Given the description of an element on the screen output the (x, y) to click on. 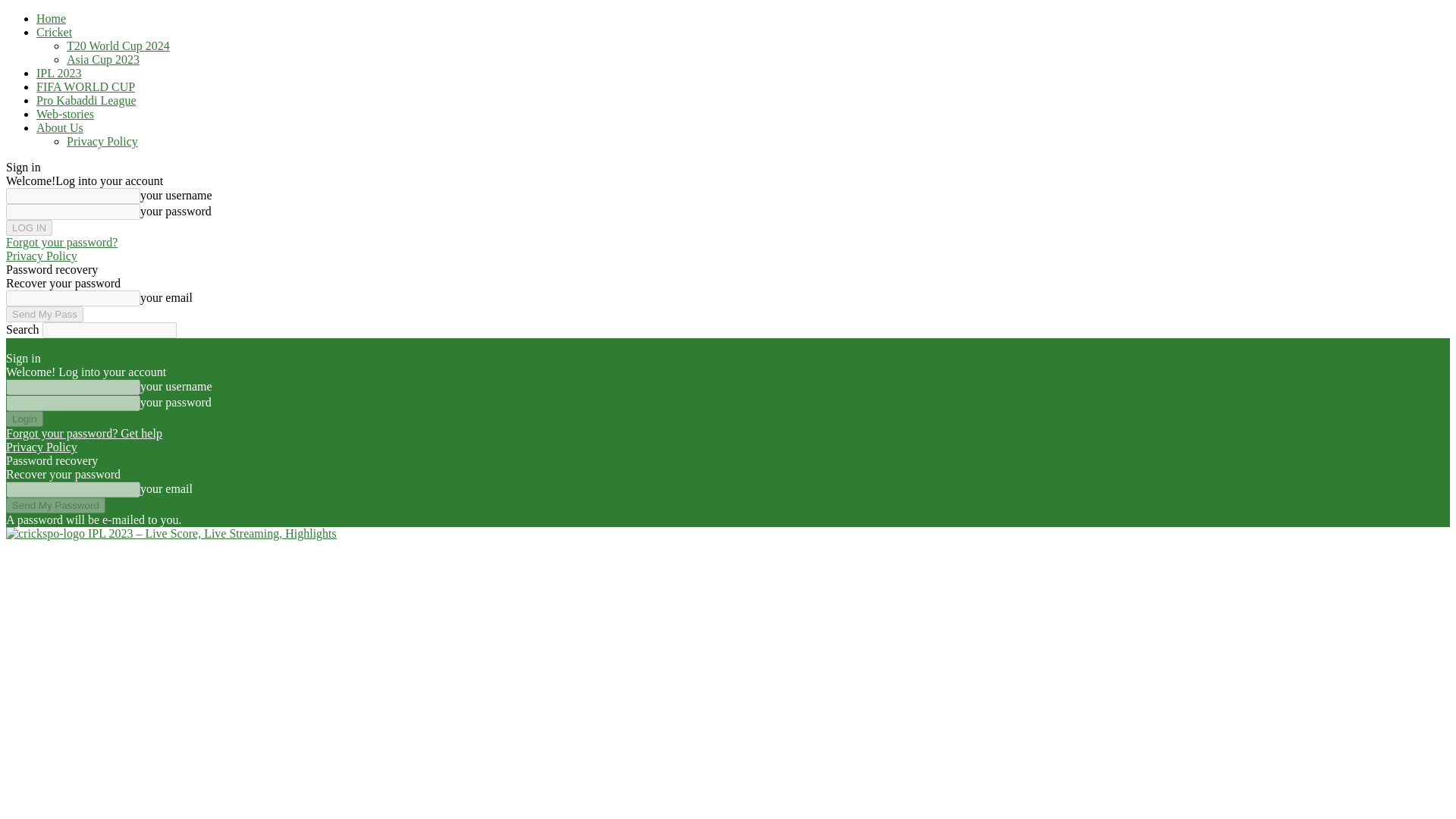
Forgot your password? Get help (83, 432)
Web-stories (65, 113)
Login (24, 418)
Home (50, 18)
Privacy Policy (102, 141)
About Us (59, 127)
T20 World Cup 2024 (118, 45)
Send My Password (54, 505)
Pro Kabaddi League (86, 100)
IPL 2023 (58, 72)
